Given the description of an element on the screen output the (x, y) to click on. 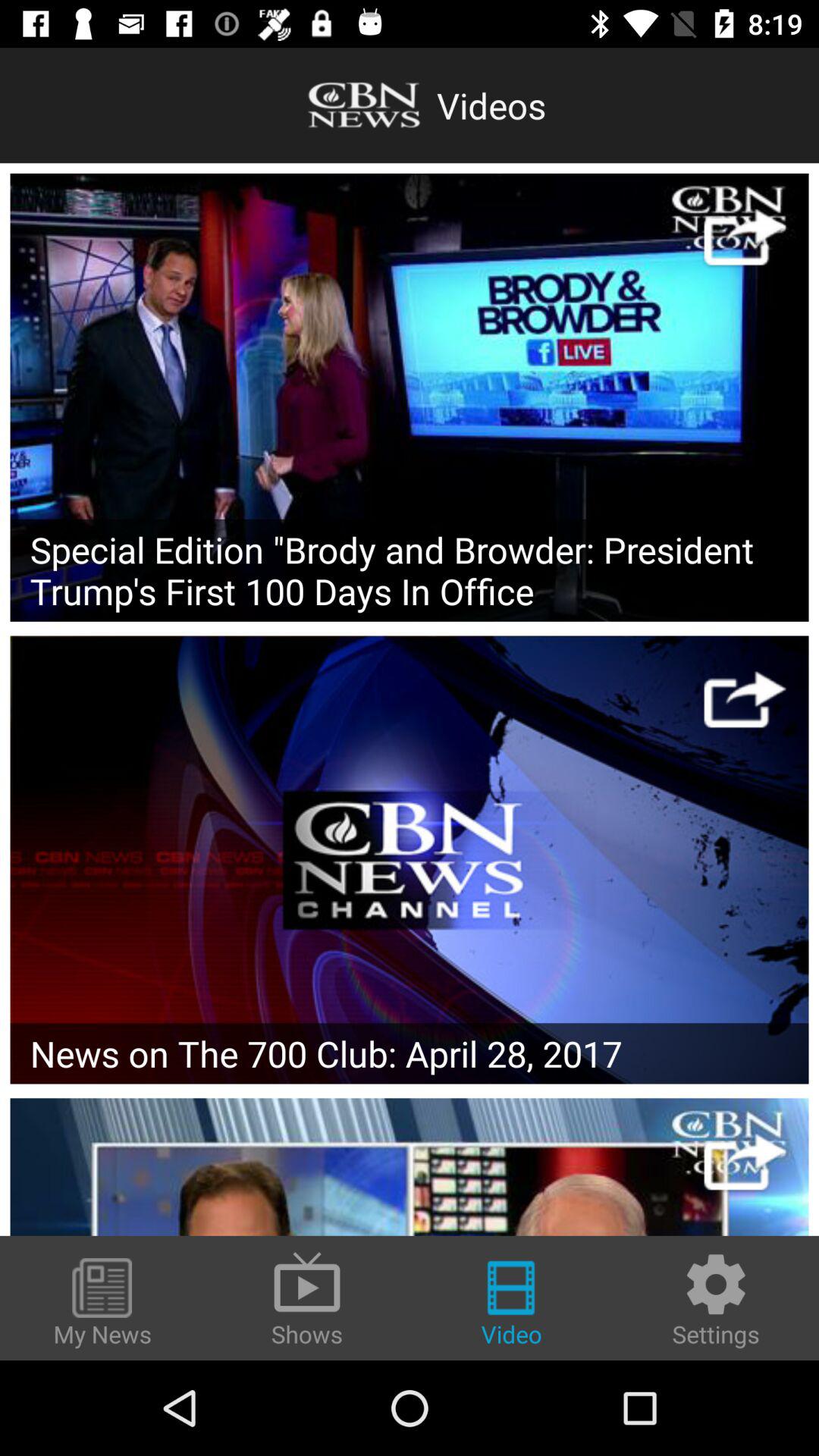
share the video (744, 699)
